Given the description of an element on the screen output the (x, y) to click on. 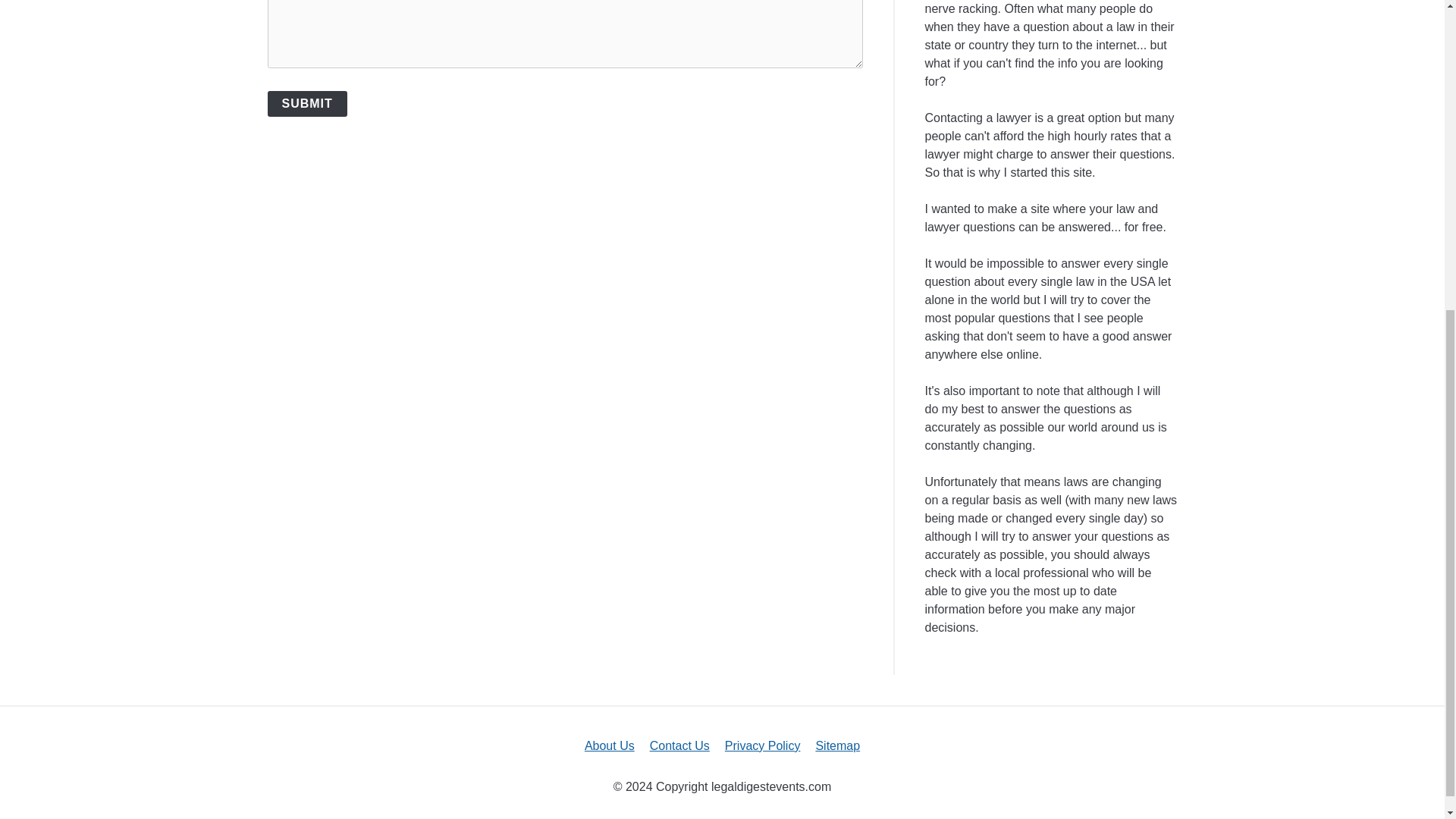
Privacy Policy (762, 745)
Sitemap (837, 745)
Submit (306, 103)
Submit (306, 103)
Contact Us (679, 745)
About Us (609, 745)
